Given the description of an element on the screen output the (x, y) to click on. 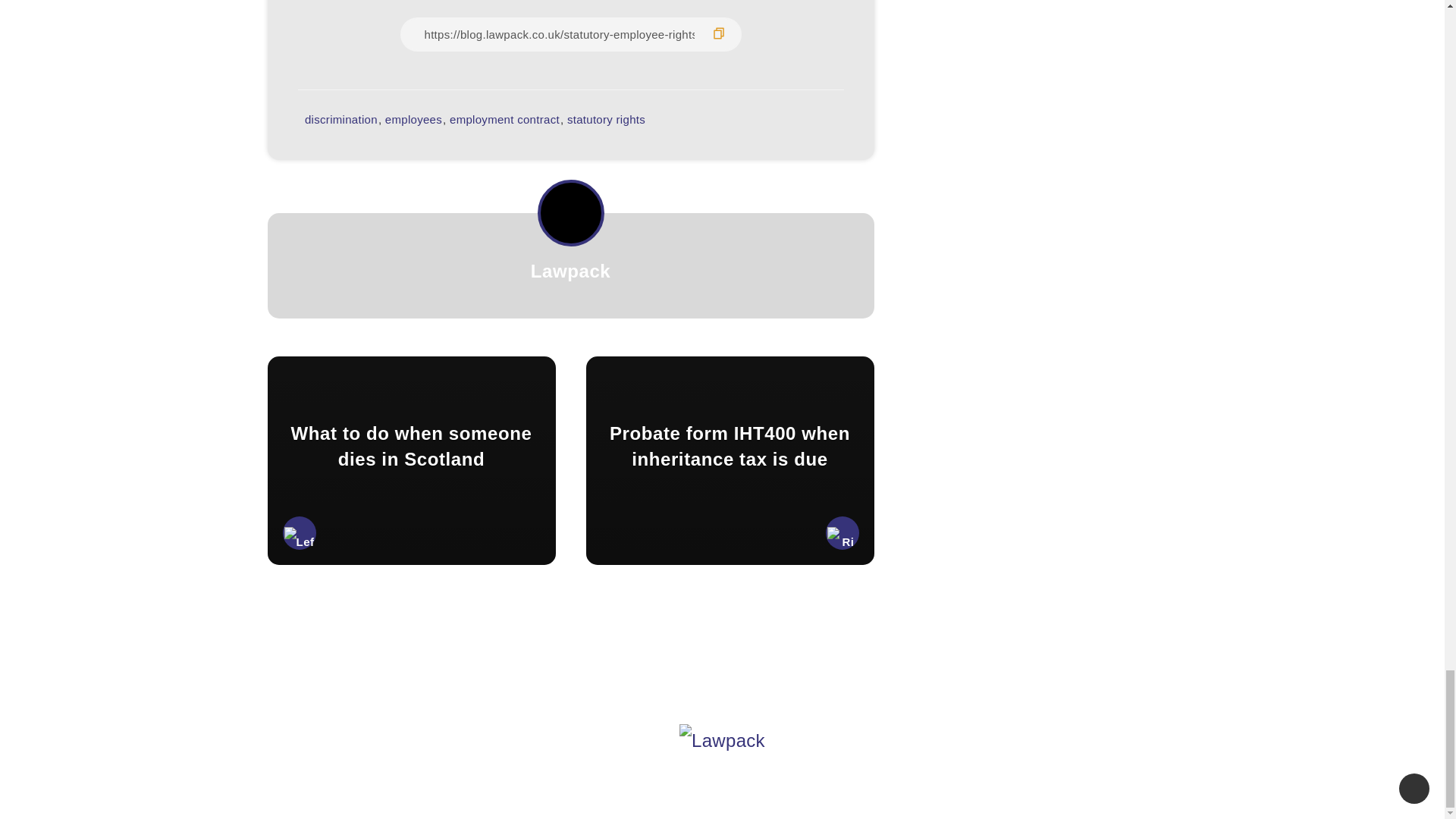
employees (413, 119)
employment contract (504, 119)
discrimination (340, 119)
Powered with Breek (769, 780)
